Given the description of an element on the screen output the (x, y) to click on. 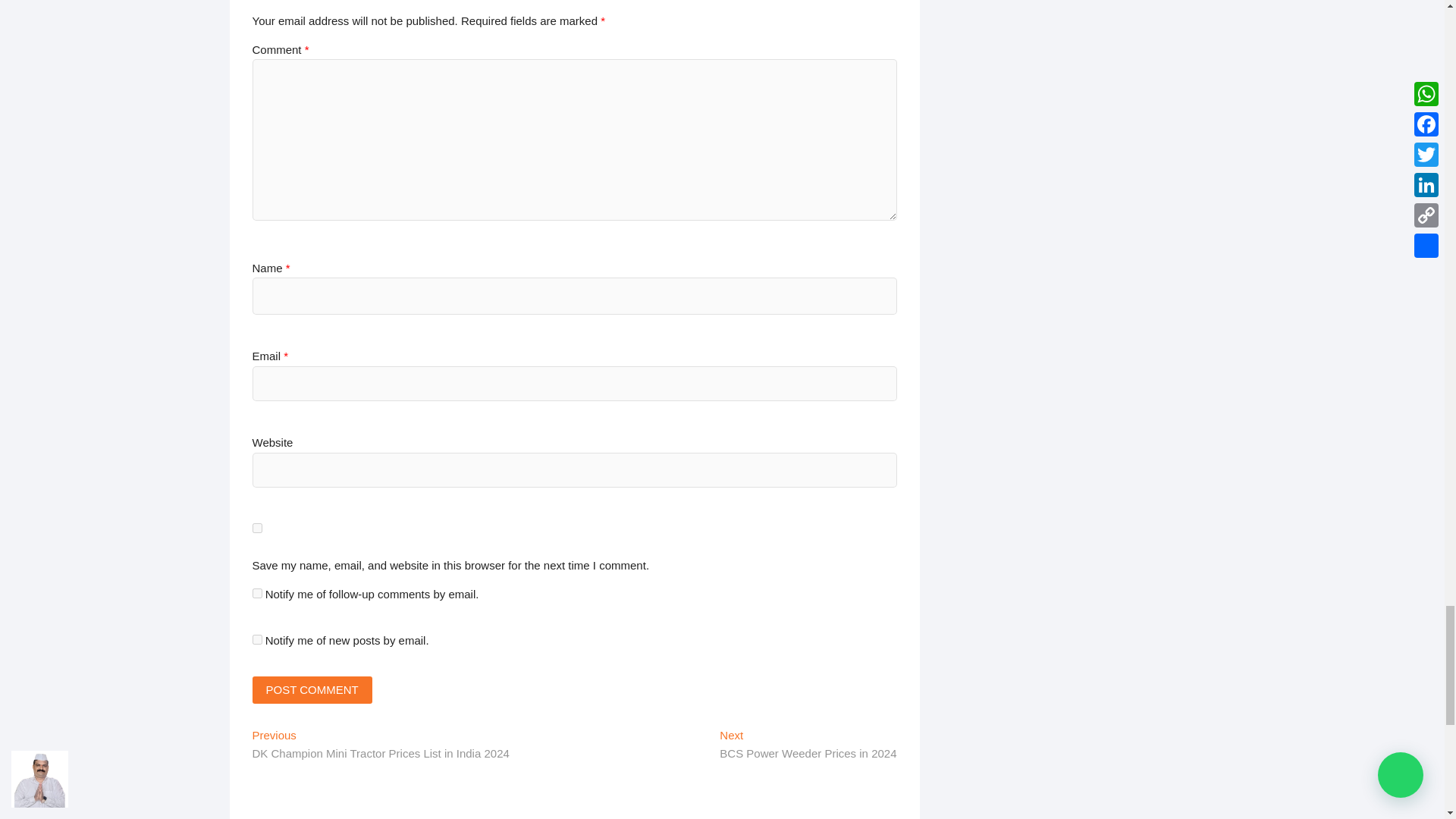
subscribe (256, 593)
subscribe (256, 639)
Post Comment (311, 689)
yes (256, 528)
